Given the description of an element on the screen output the (x, y) to click on. 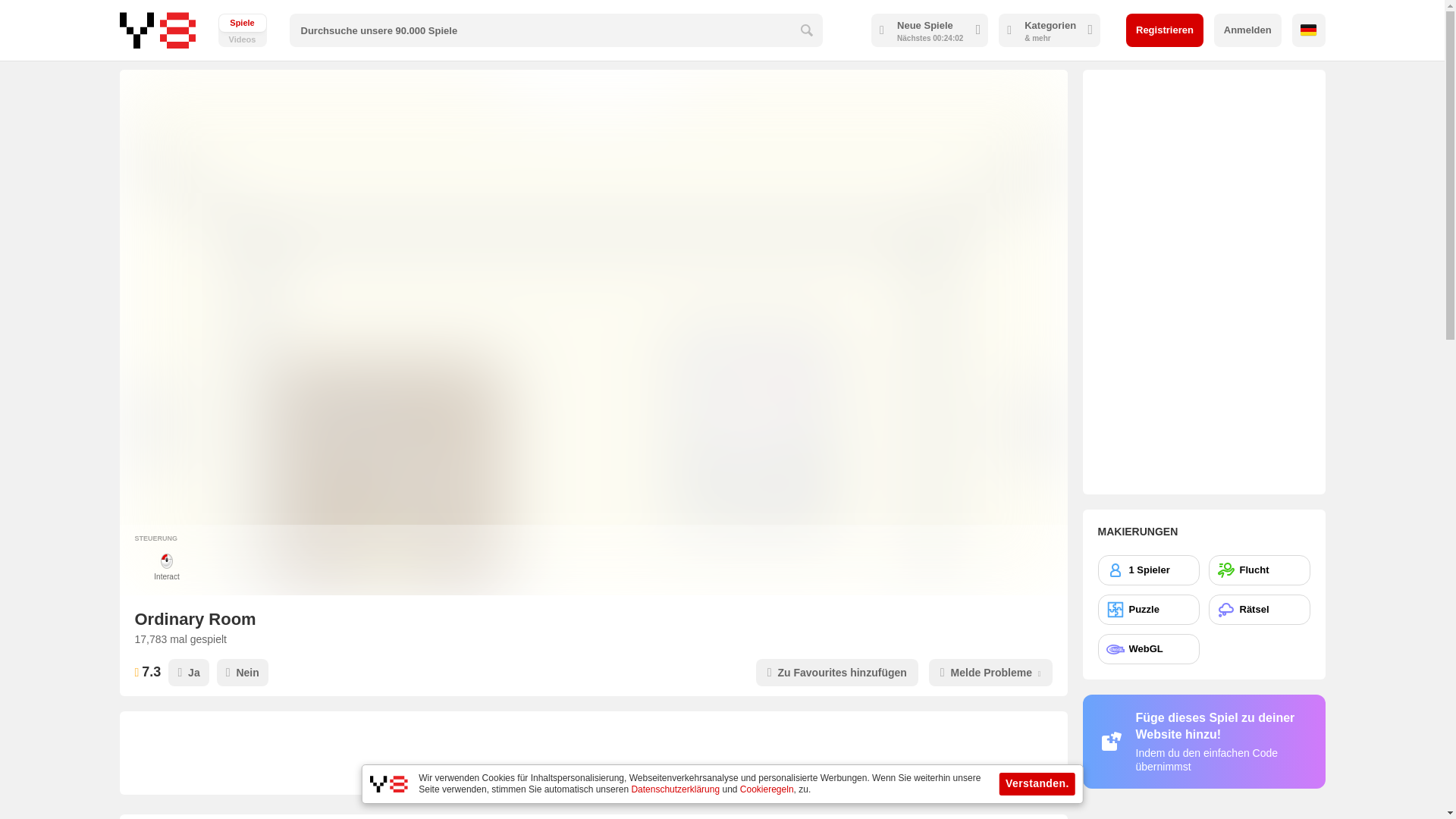
Puzzle (1148, 609)
Registrieren (1164, 29)
Cookieregeln (766, 789)
Videos (242, 29)
1 Spieler (1148, 570)
Anmelden (1247, 29)
WebGL (242, 29)
Flucht (1148, 648)
